Given the description of an element on the screen output the (x, y) to click on. 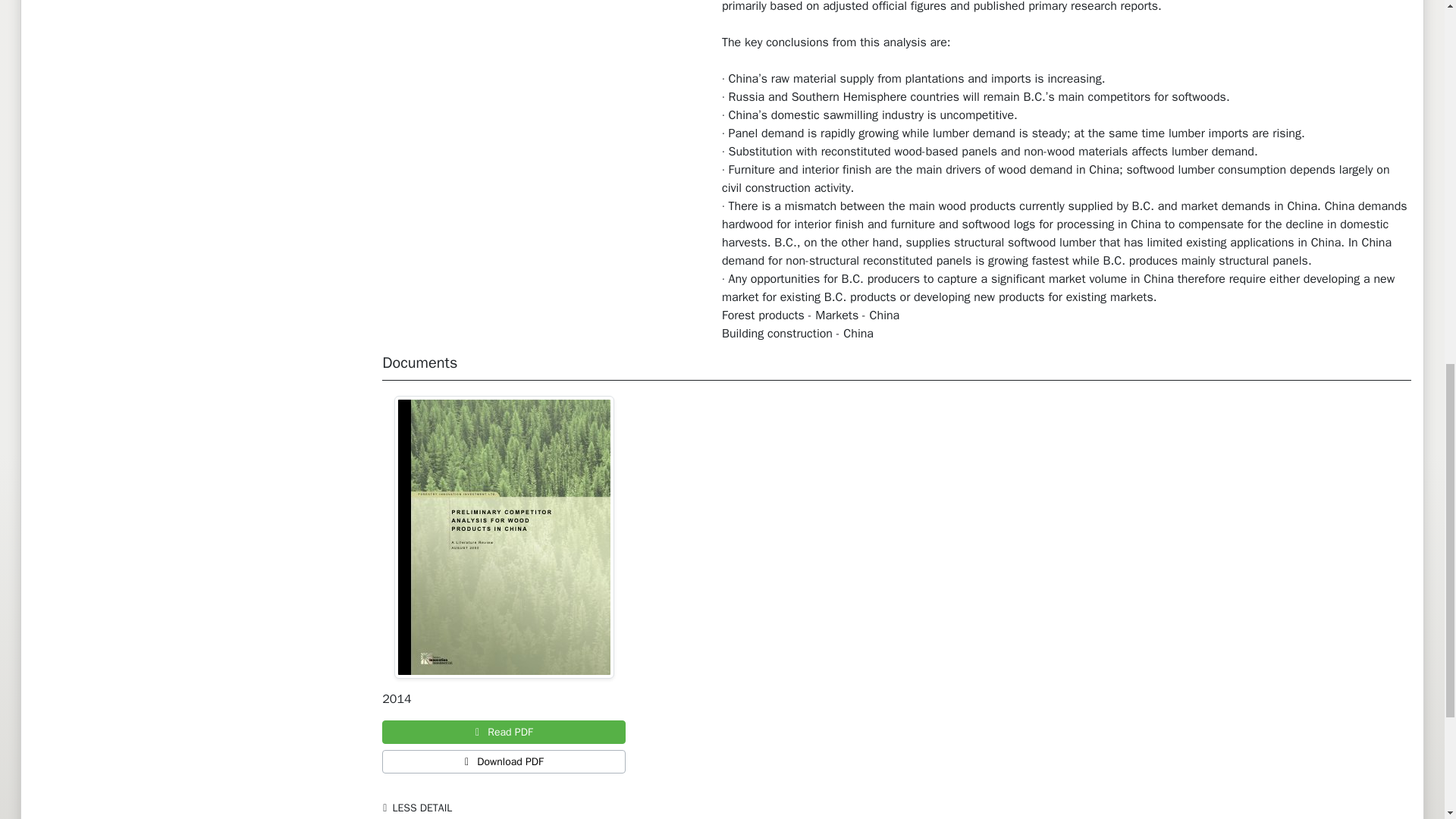
Download PDF (503, 761)
Read PDF (503, 731)
LESS DETAIL (419, 807)
